Given the description of an element on the screen output the (x, y) to click on. 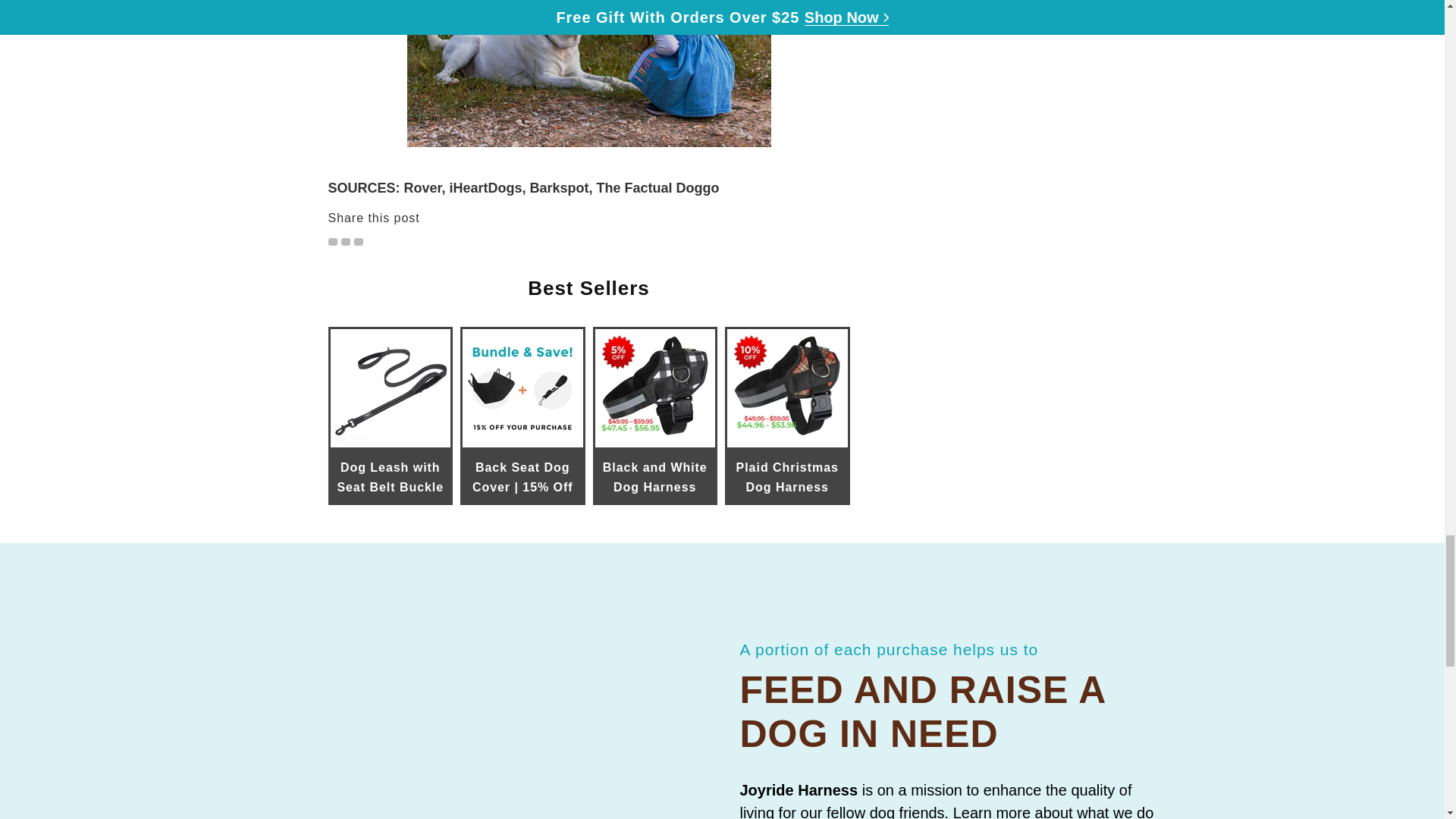
Share on Facebook (345, 241)
Tweet on Twitter (331, 241)
Pin on Pinterest (357, 241)
